Given the description of an element on the screen output the (x, y) to click on. 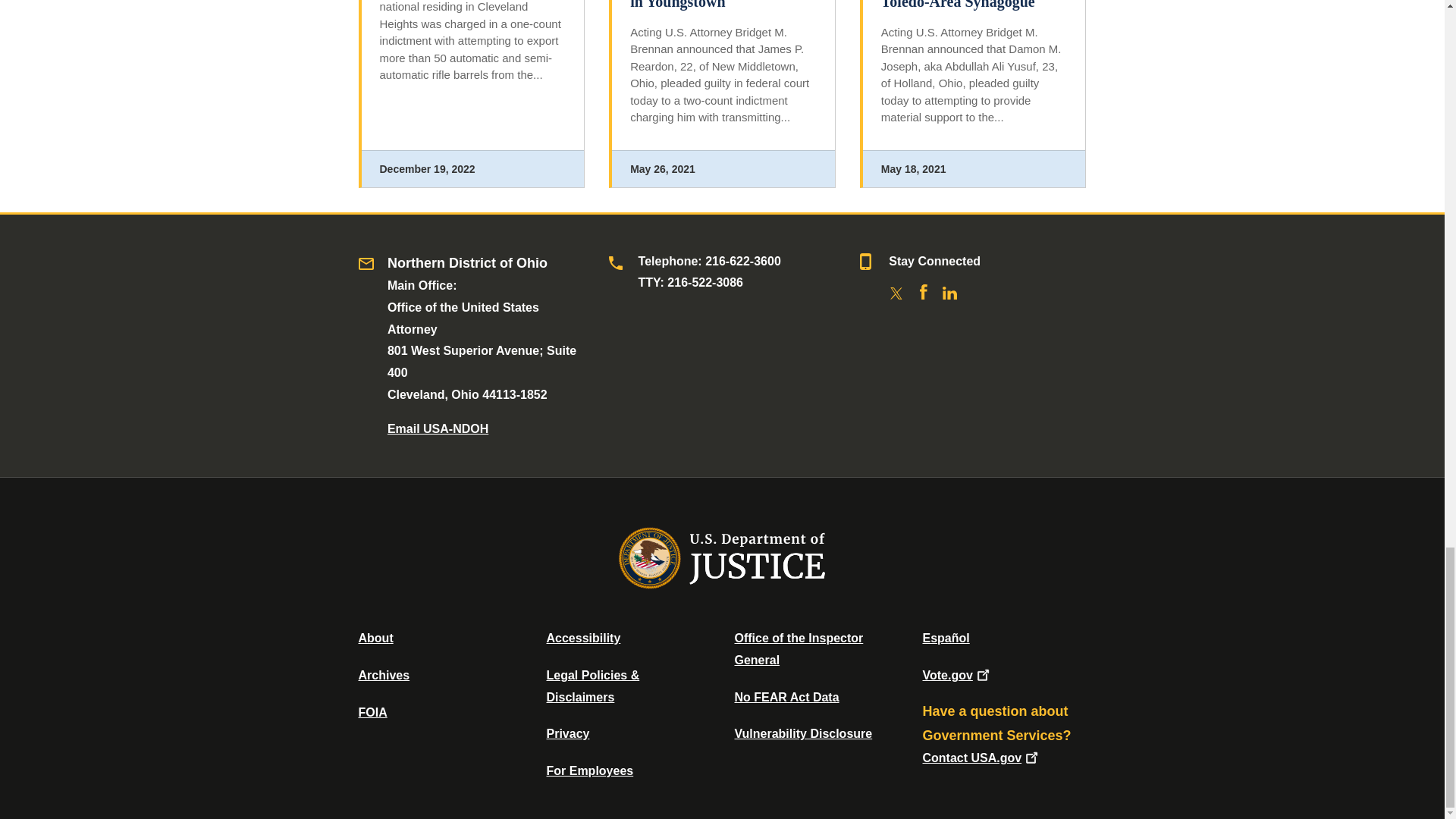
Legal Policies and Disclaimers (592, 686)
Data Posted Pursuant To The No Fear Act (785, 697)
About DOJ (375, 637)
Department of Justice Archive (383, 675)
For Employees (589, 770)
Office of Information Policy (372, 712)
Accessibility Statement (583, 637)
